Given the description of an element on the screen output the (x, y) to click on. 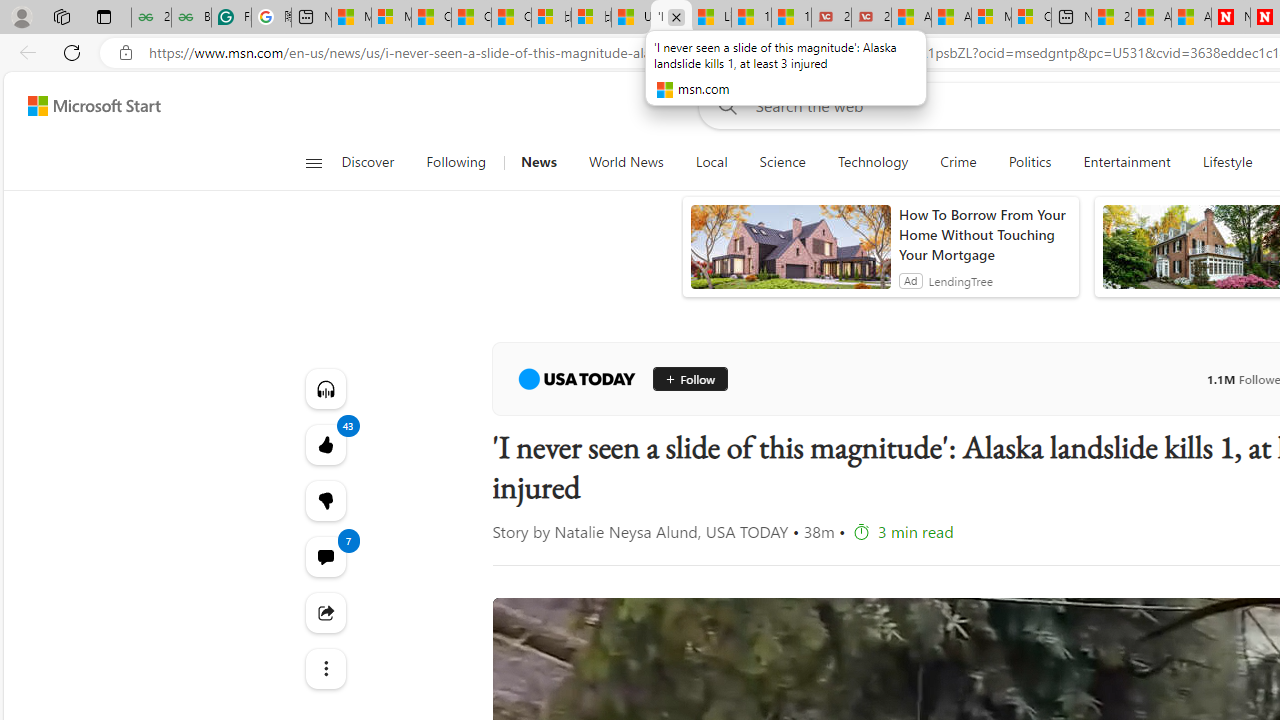
LendingTree (960, 280)
Follow (689, 378)
43 (324, 500)
Free AI Writing Assistance for Students | Grammarly (231, 17)
anim-content (789, 255)
15 Ways Modern Life Contradicts the Teachings of Jesus (791, 17)
